Given the description of an element on the screen output the (x, y) to click on. 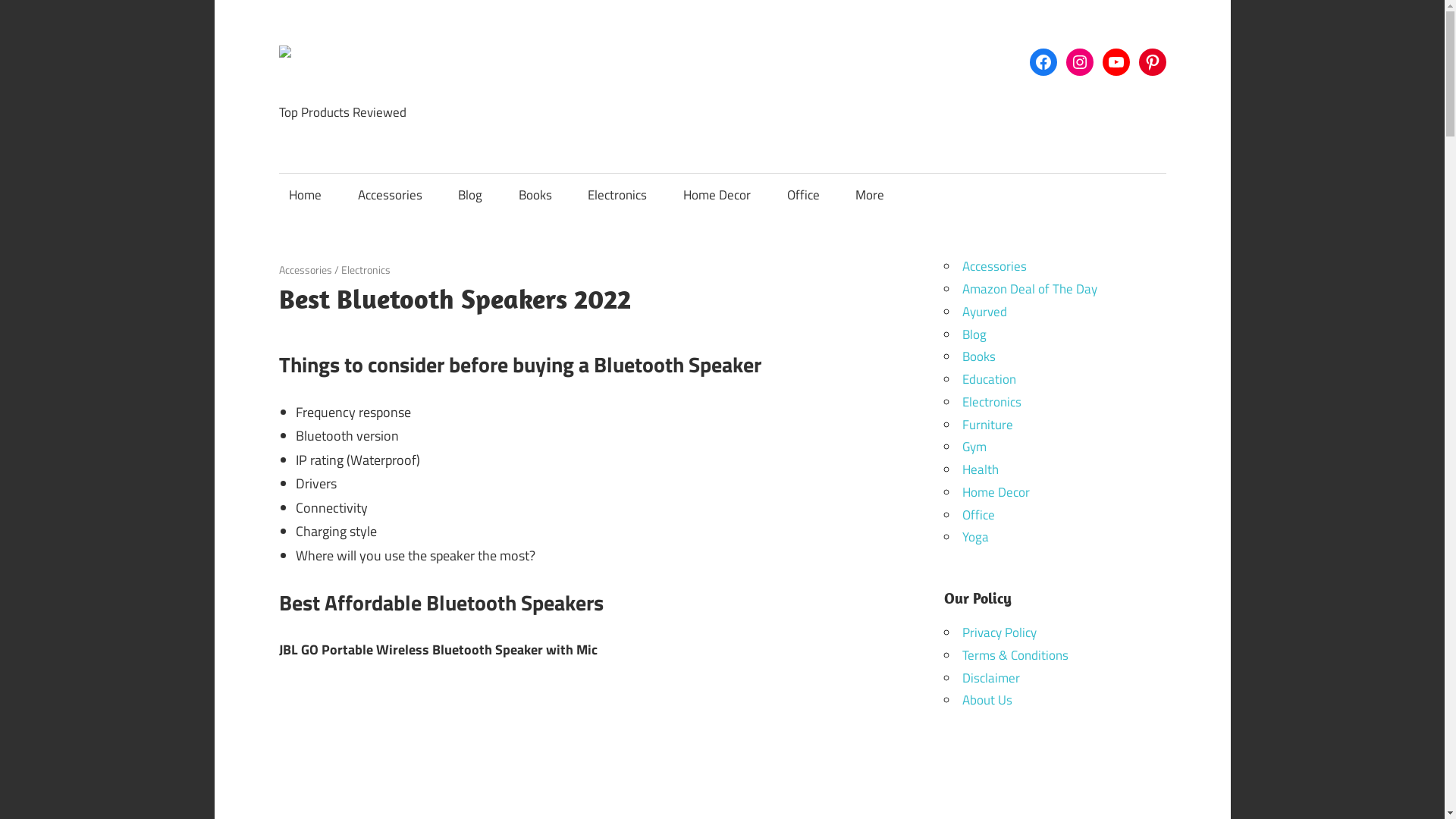
Instagram (1079, 62)
December 1, 2021 (320, 269)
Facebook (1043, 62)
Office (802, 194)
Accessories (389, 194)
Electronics (618, 194)
Books (535, 194)
Electronics (365, 269)
More (874, 194)
6:17 am (320, 269)
YouTube (1115, 62)
Pinterest (1152, 62)
Accessories (305, 269)
Home (305, 194)
Home Decor (716, 194)
